Given the description of an element on the screen output the (x, y) to click on. 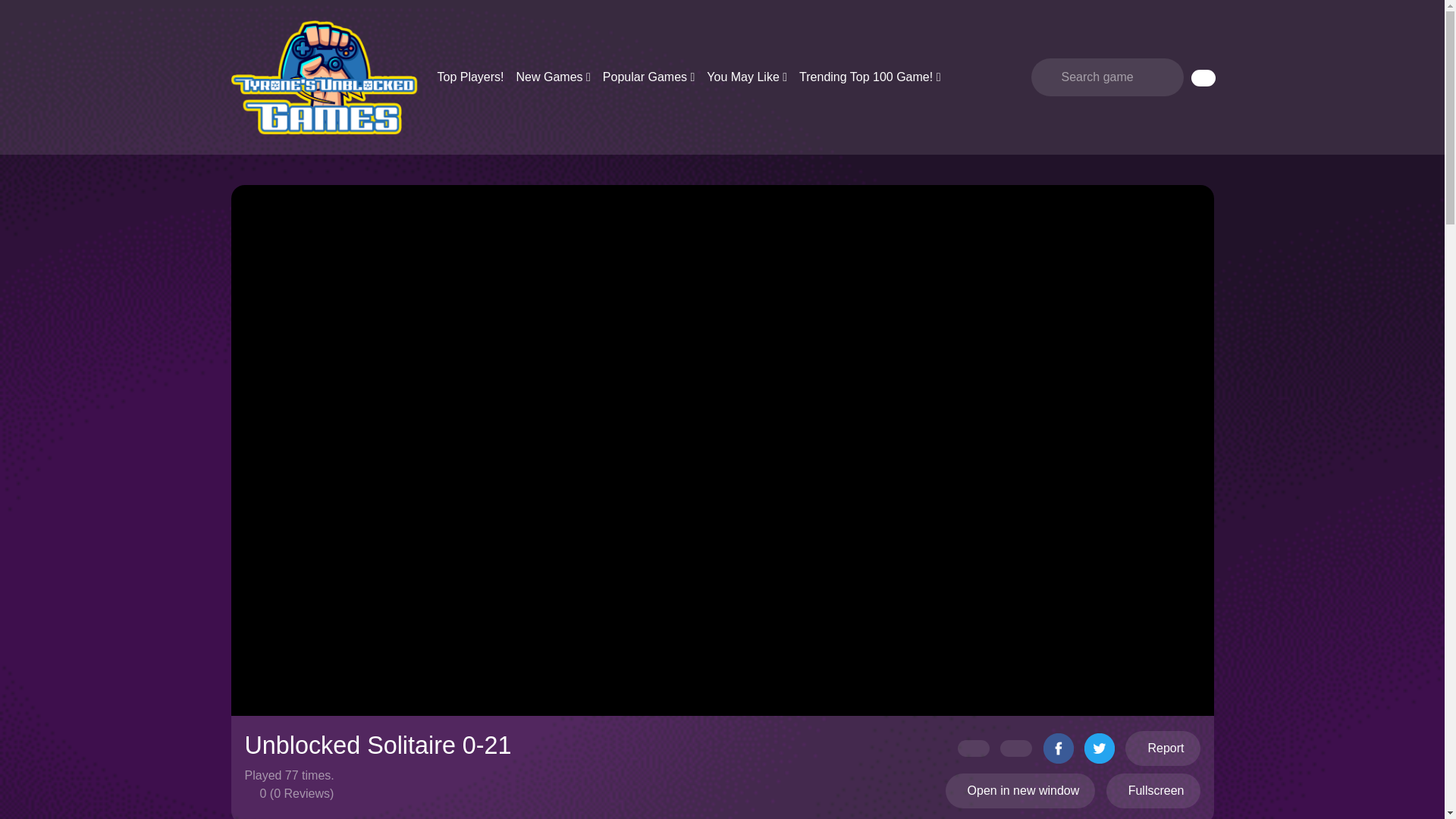
Fullscreen (1152, 790)
Open in new window (1020, 790)
Top Players! (469, 77)
Report (1162, 748)
